Given the description of an element on the screen output the (x, y) to click on. 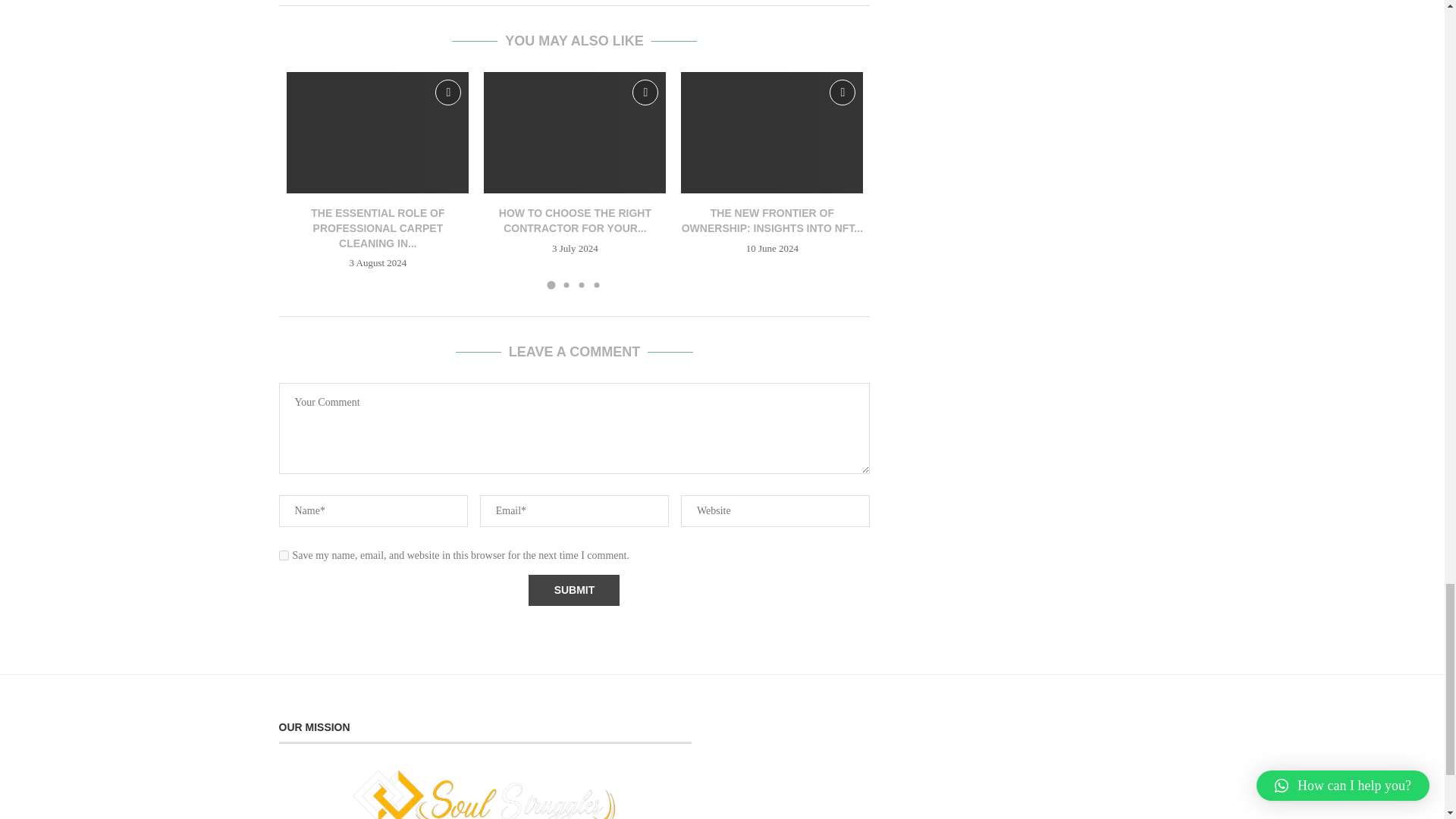
Submit (574, 590)
yes (283, 555)
